Given the description of an element on the screen output the (x, y) to click on. 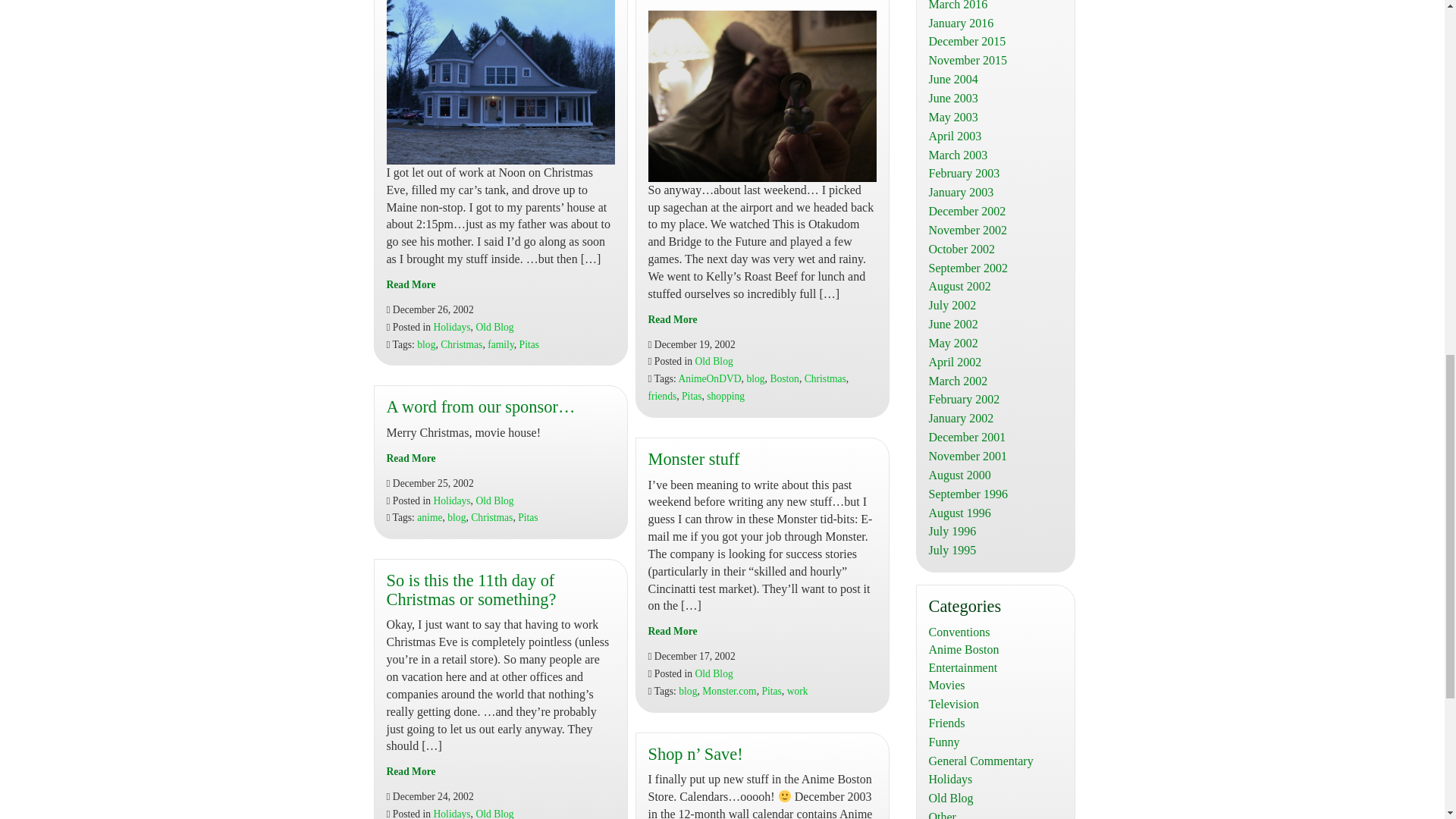
Read More (411, 284)
Old Blog (494, 326)
I just wanna go home. (500, 82)
Holidays (451, 326)
blog (425, 343)
I just wanna go home. (411, 284)
